Given the description of an element on the screen output the (x, y) to click on. 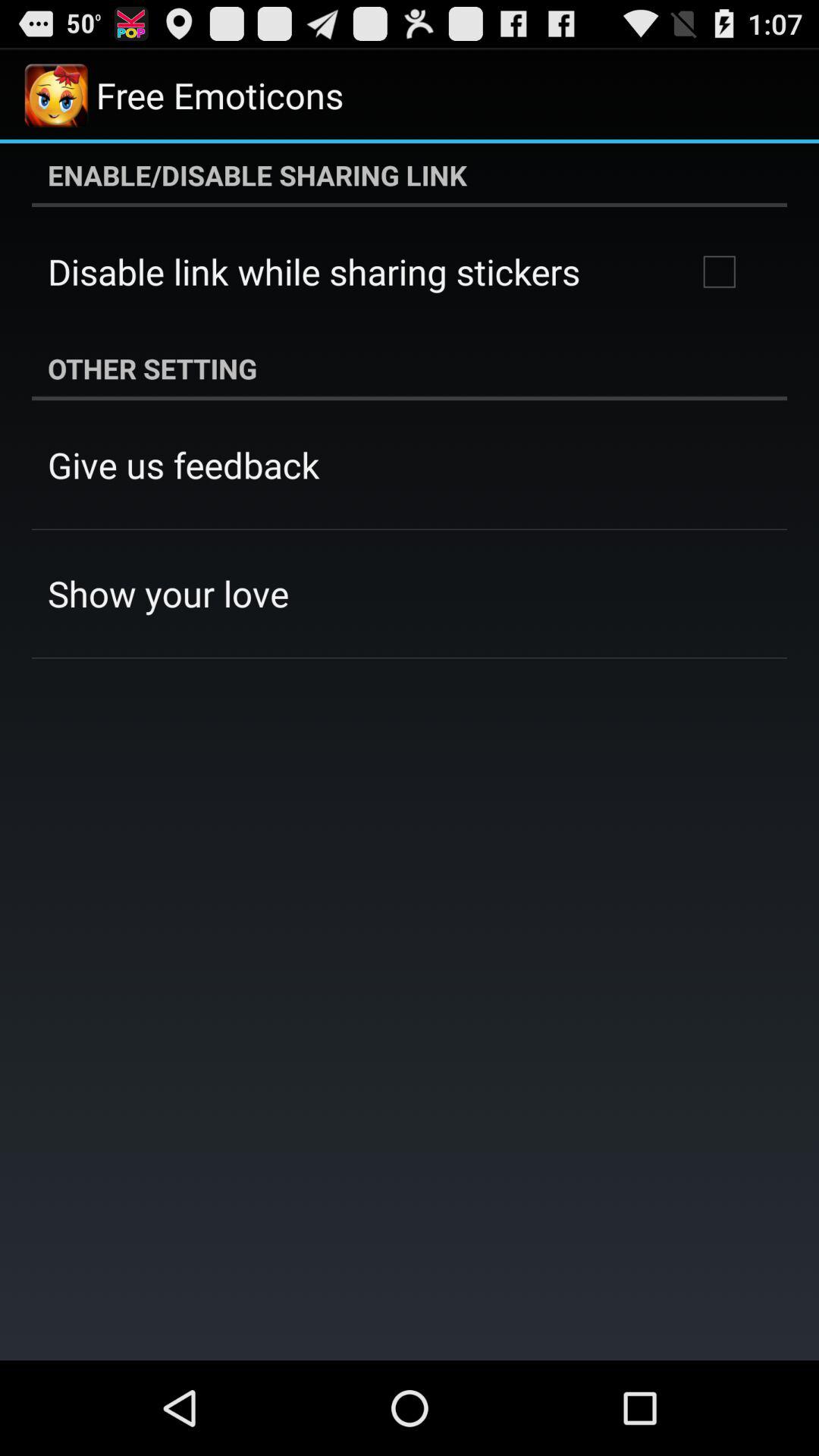
select app below the other setting app (183, 464)
